Given the description of an element on the screen output the (x, y) to click on. 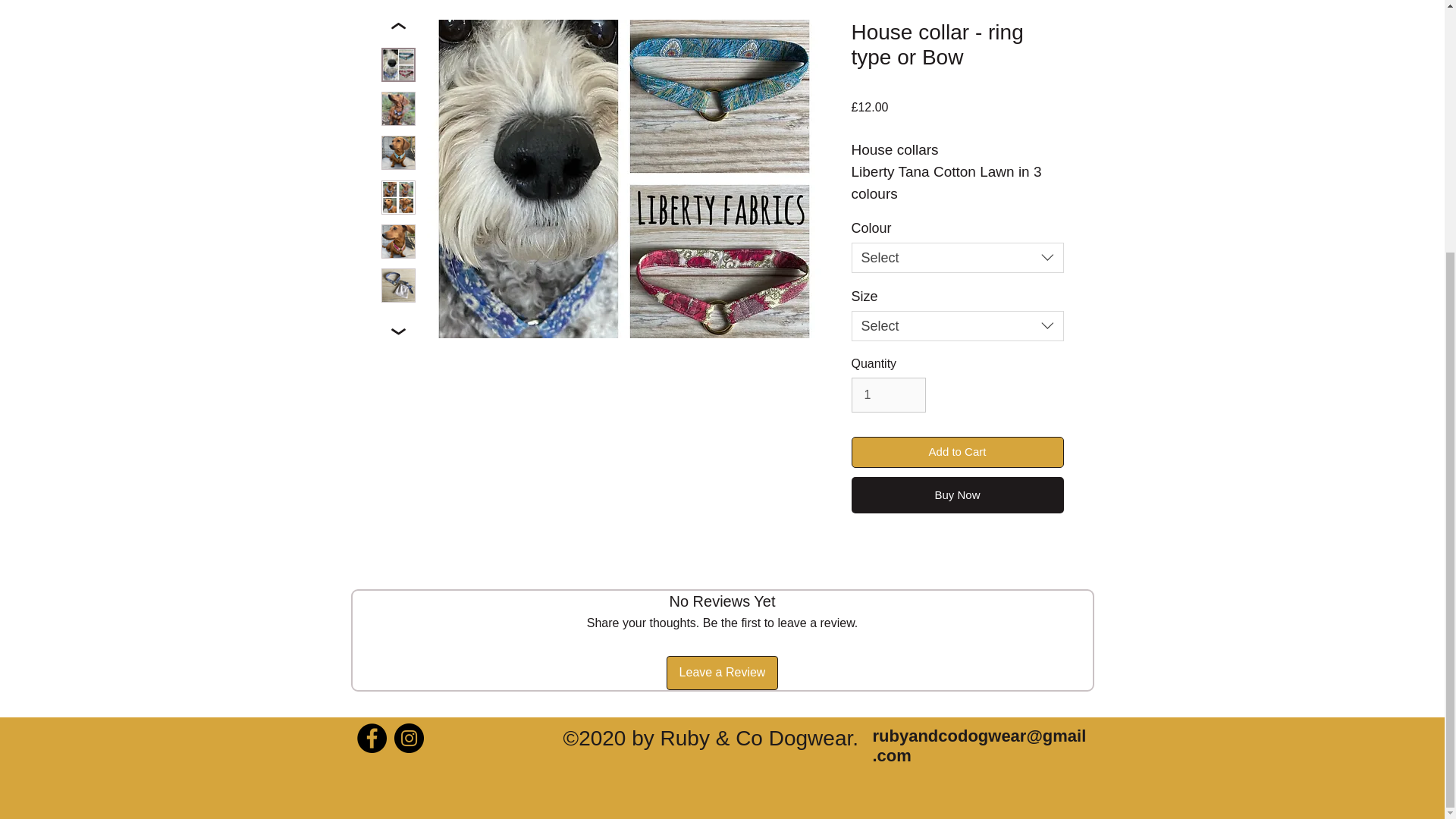
Add to Cart (956, 451)
Select (956, 326)
Leave a Review (722, 672)
Select (956, 257)
Buy Now (956, 494)
1 (887, 394)
